Given the description of an element on the screen output the (x, y) to click on. 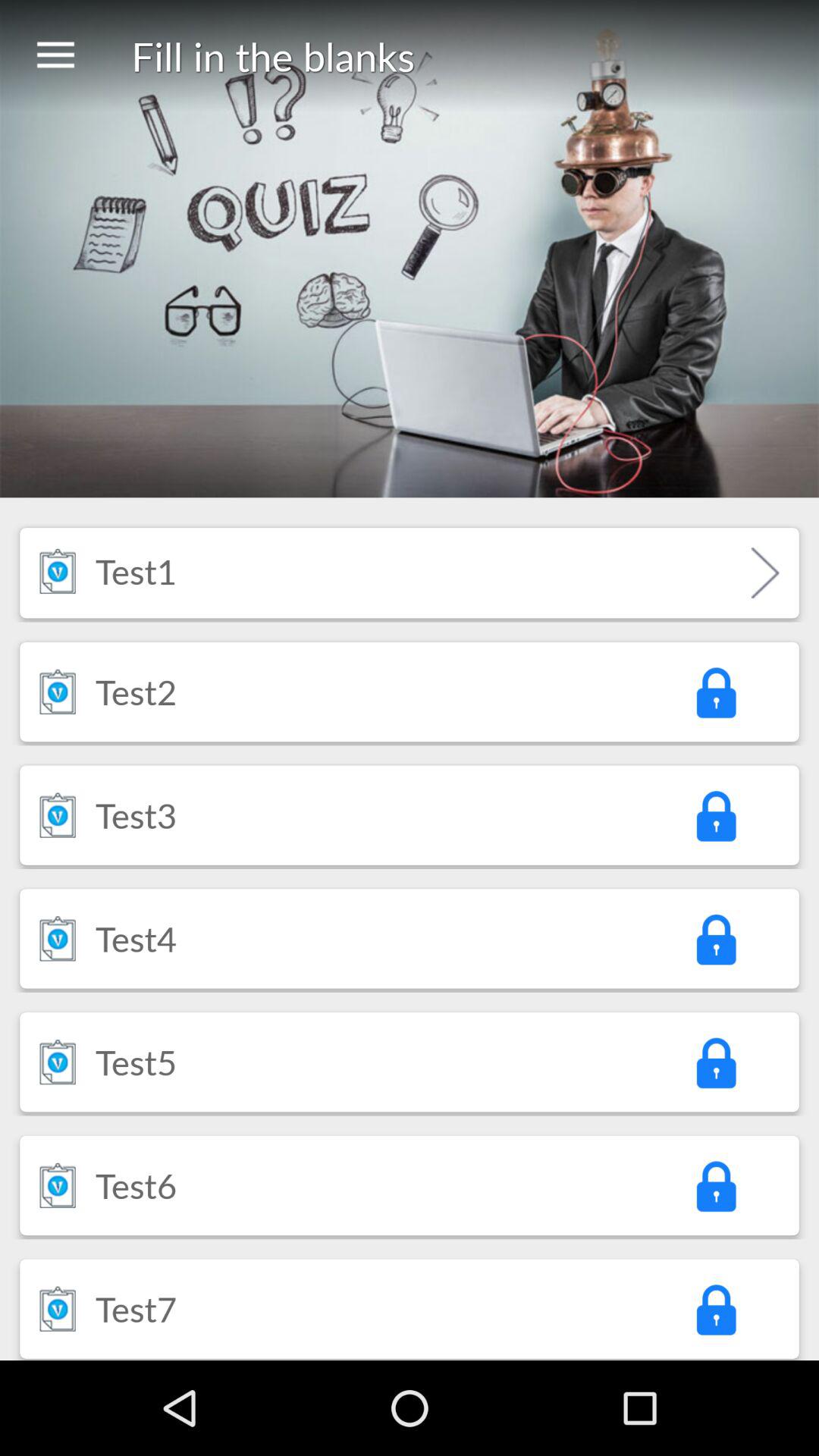
turn off icon next to the test6 icon (57, 1184)
